Given the description of an element on the screen output the (x, y) to click on. 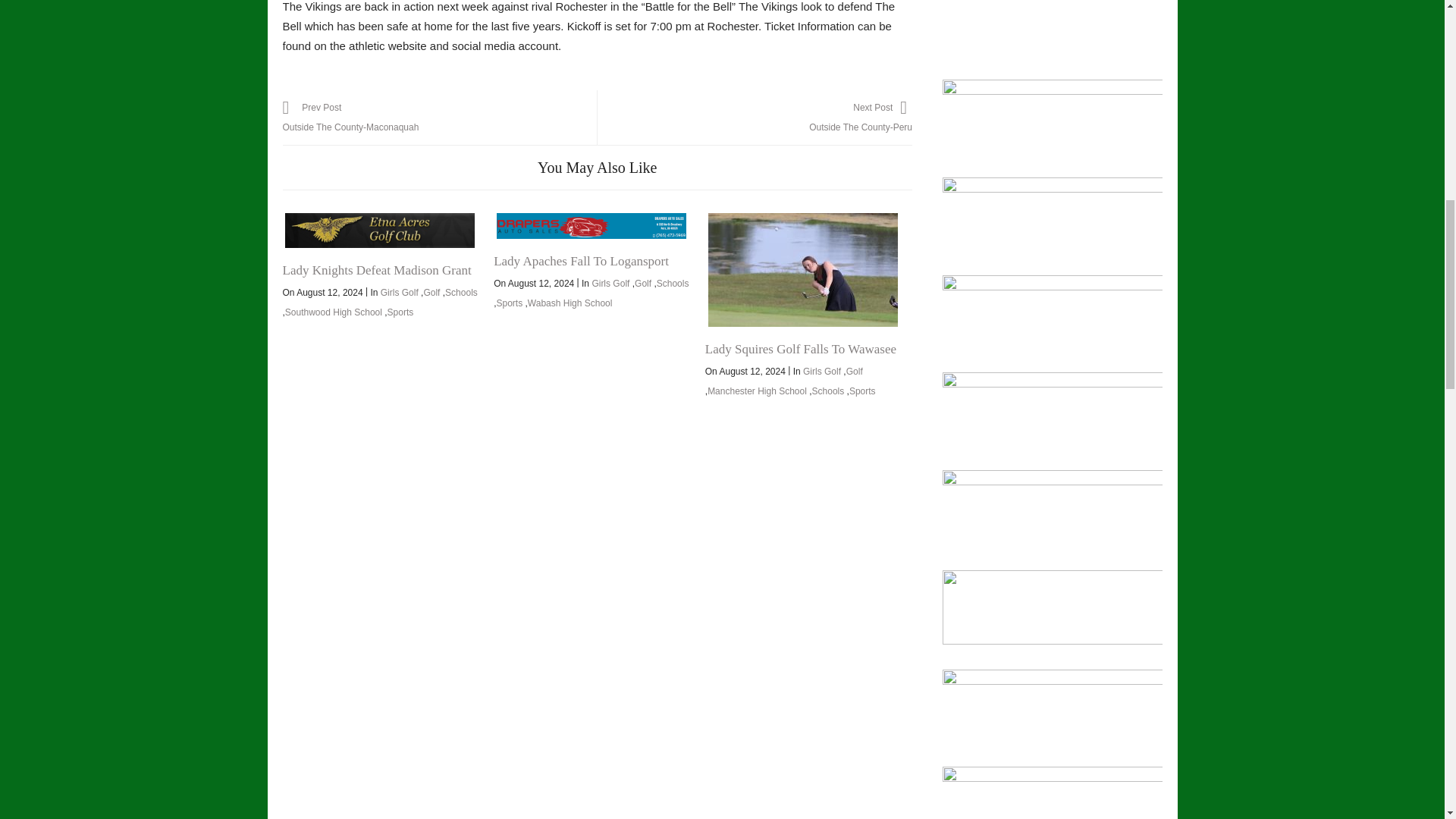
Lady Apaches Fall To Logansport (590, 225)
Lady Squires Golf Falls To Wawasee (801, 269)
Lady Knights Defeat Madison Grant (379, 230)
